Given the description of an element on the screen output the (x, y) to click on. 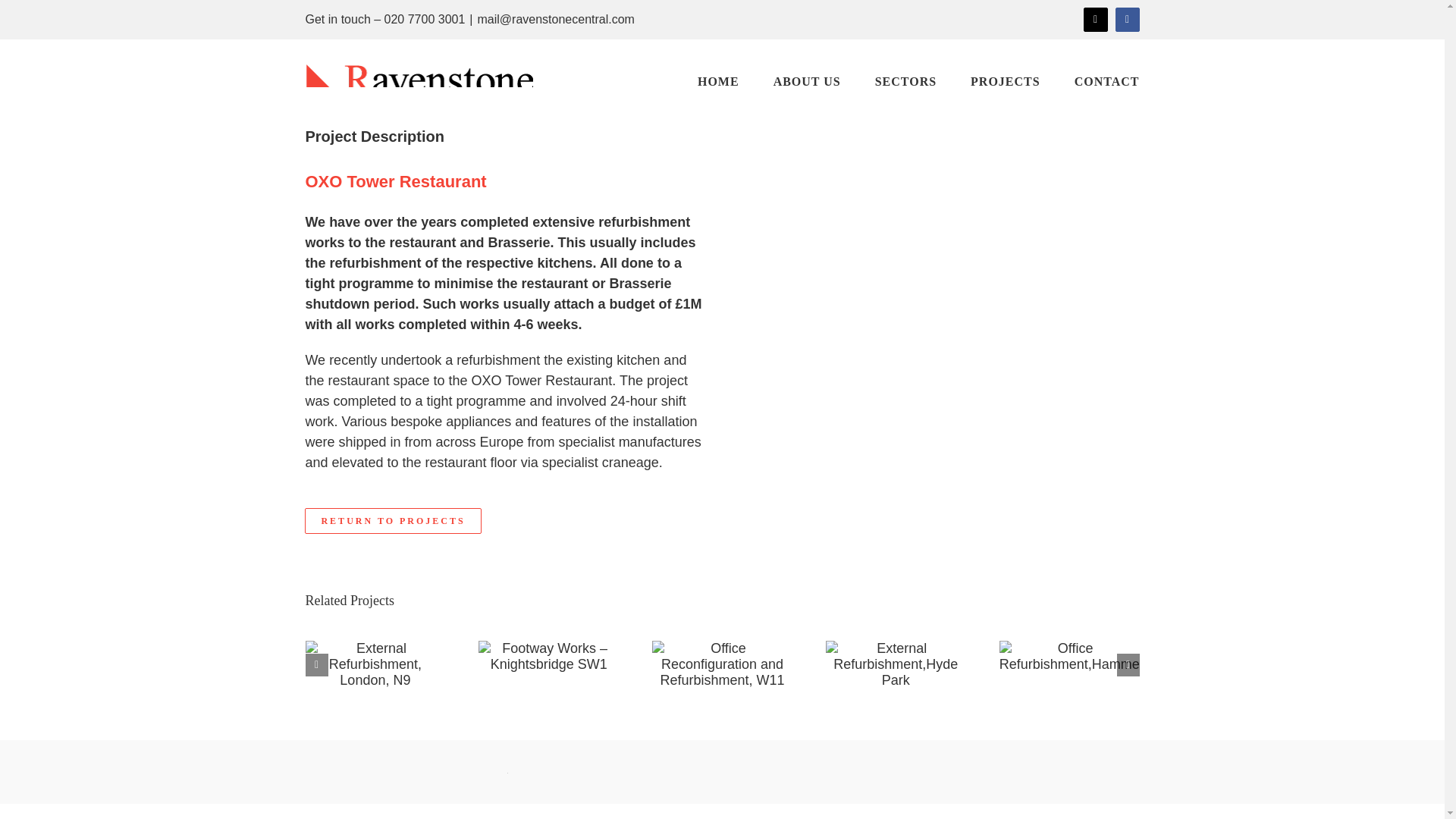
Facebook (1126, 19)
X (1094, 19)
X (1094, 19)
Facebook (1126, 19)
RETURN TO PROJECTS (392, 520)
